Given the description of an element on the screen output the (x, y) to click on. 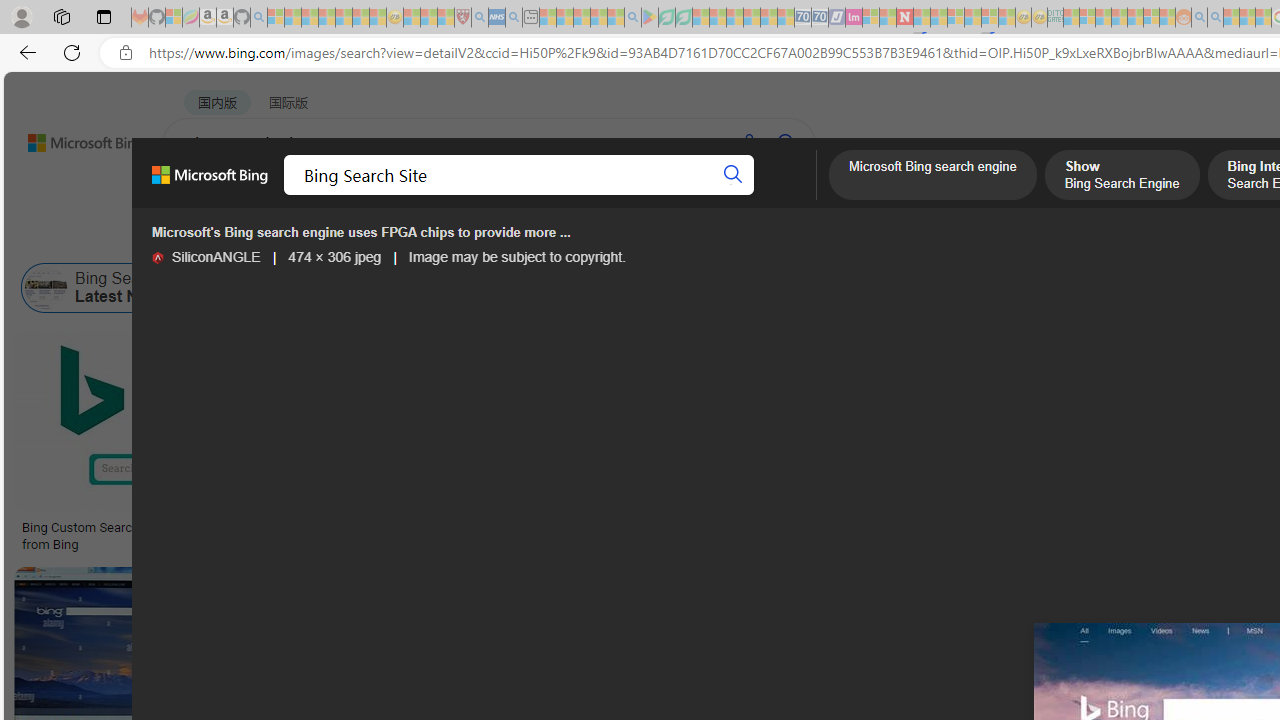
Bing Searches Today (502, 287)
MORE (793, 195)
Bing as Search Engine (222, 287)
Personal Profile (21, 16)
IMAGES (360, 195)
Show Bing Search Engine (889, 287)
Bing Advanced Search Tricks You Should Know (810, 528)
Bing Search Terms (1025, 287)
Image size (222, 237)
IMAGES (360, 196)
Layout (443, 237)
Microsoft Bing search engine (932, 177)
